Given the description of an element on the screen output the (x, y) to click on. 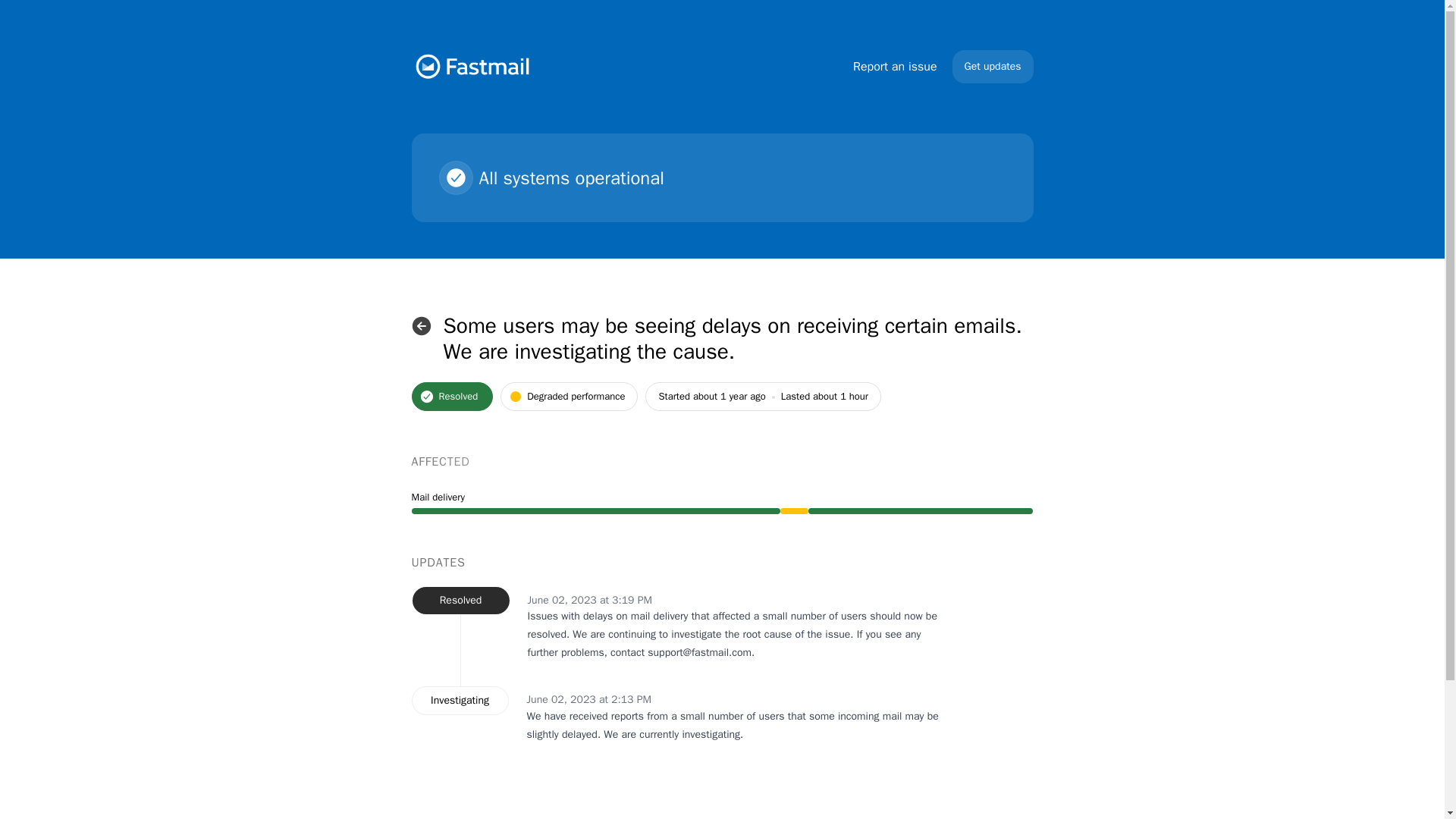
Get updates (992, 66)
Show current status (420, 326)
Report an issue (895, 66)
